Given the description of an element on the screen output the (x, y) to click on. 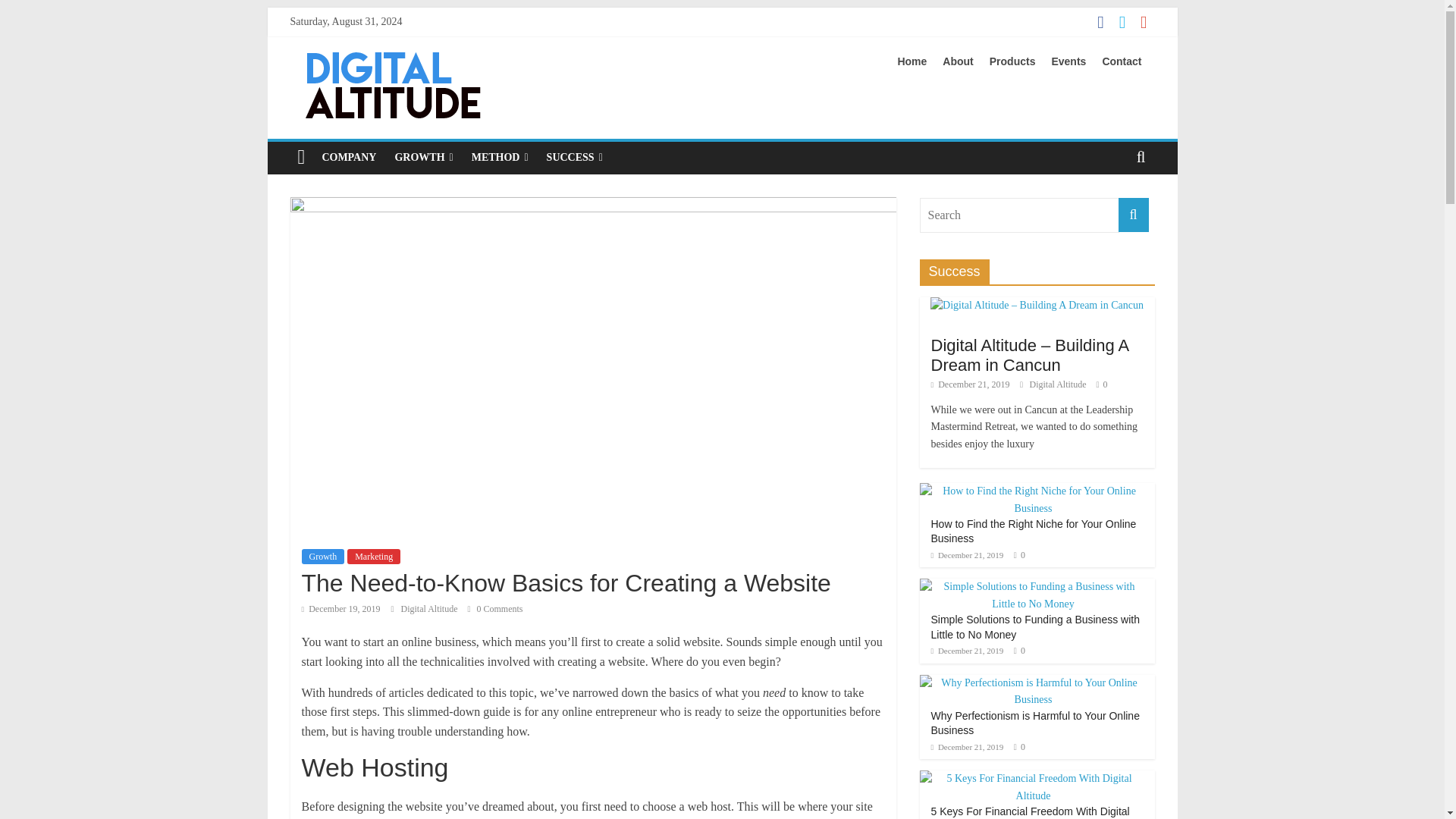
9:14 am (967, 554)
11:54 am (340, 608)
SUCCESS (574, 157)
Contact (1128, 61)
10:37 am (970, 384)
About (963, 61)
Digital Altitude (1059, 384)
Digital Altitude (430, 608)
METHOD (500, 157)
COMPANY (349, 157)
